Given the description of an element on the screen output the (x, y) to click on. 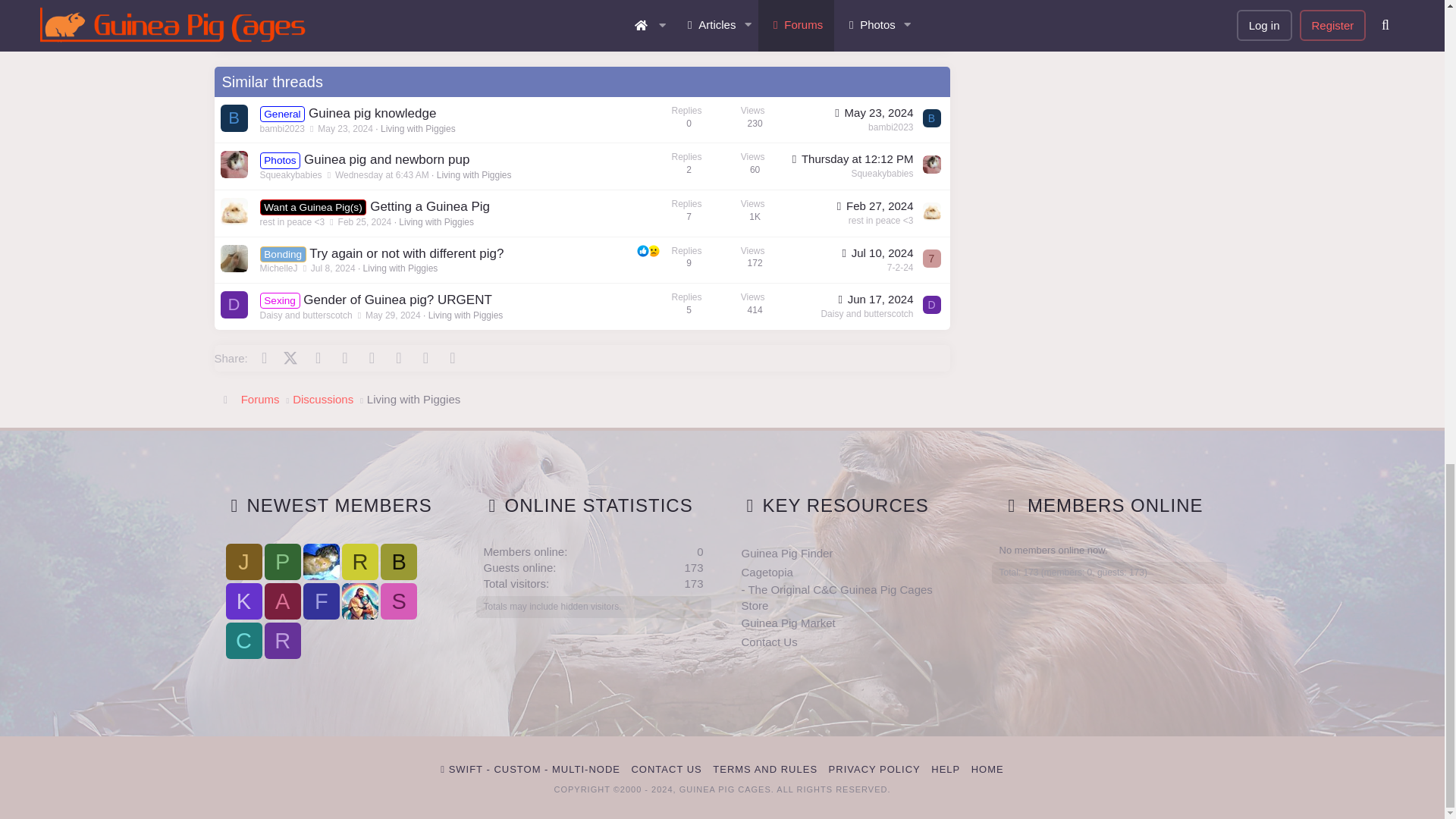
Jul 17, 2024 at 6:43 AM (381, 174)
May 23, 2024 at 11:25 AM (872, 112)
Jul 17, 2024 at 12:12 PM (851, 158)
May 23, 2024 at 11:25 AM (344, 128)
First message reaction score: 0 (720, 120)
bambi2023 (233, 117)
First message reaction score: 0 (720, 166)
Squeakybabies (233, 164)
Squeakybabies (930, 164)
bambi2023 (930, 117)
